Given the description of an element on the screen output the (x, y) to click on. 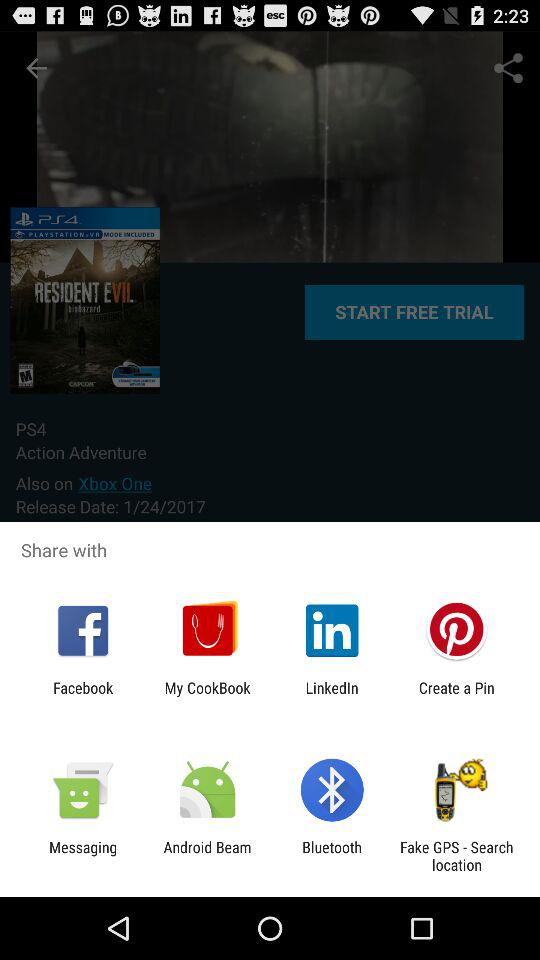
open icon next to android beam icon (331, 856)
